Given the description of an element on the screen output the (x, y) to click on. 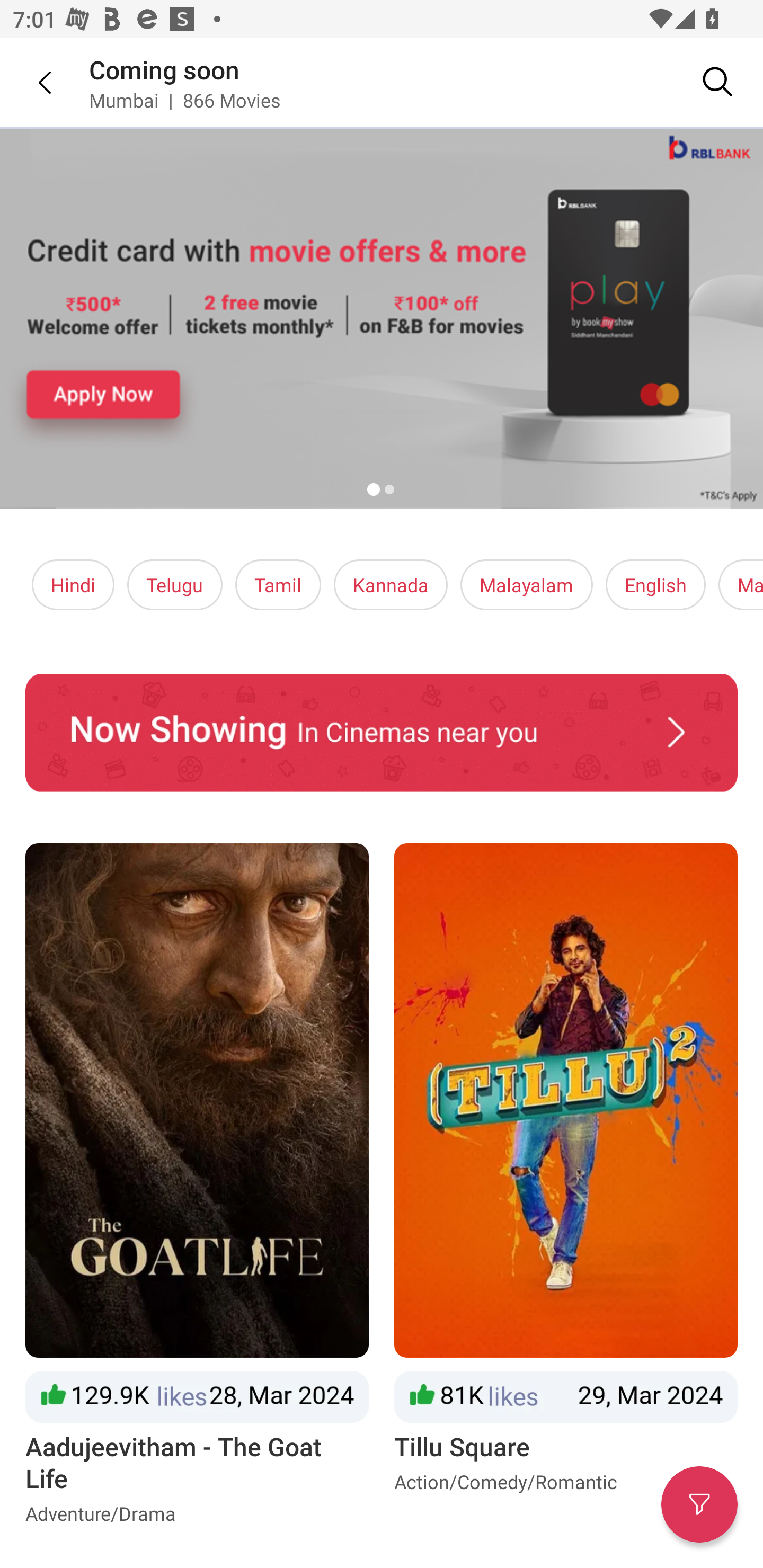
Back (31, 82)
Coming soon (164, 68)
Mumbai  |  866 Movies (184, 99)
Hindi (73, 584)
Telugu (174, 584)
Tamil (278, 584)
Kannada (390, 584)
Malayalam (526, 584)
English (655, 584)
Aadujeevitham - The Goat Life Adventure/Drama (196, 1187)
Tillu Square Action/Comedy/Romantic (565, 1187)
Filter (699, 1504)
